Given the description of an element on the screen output the (x, y) to click on. 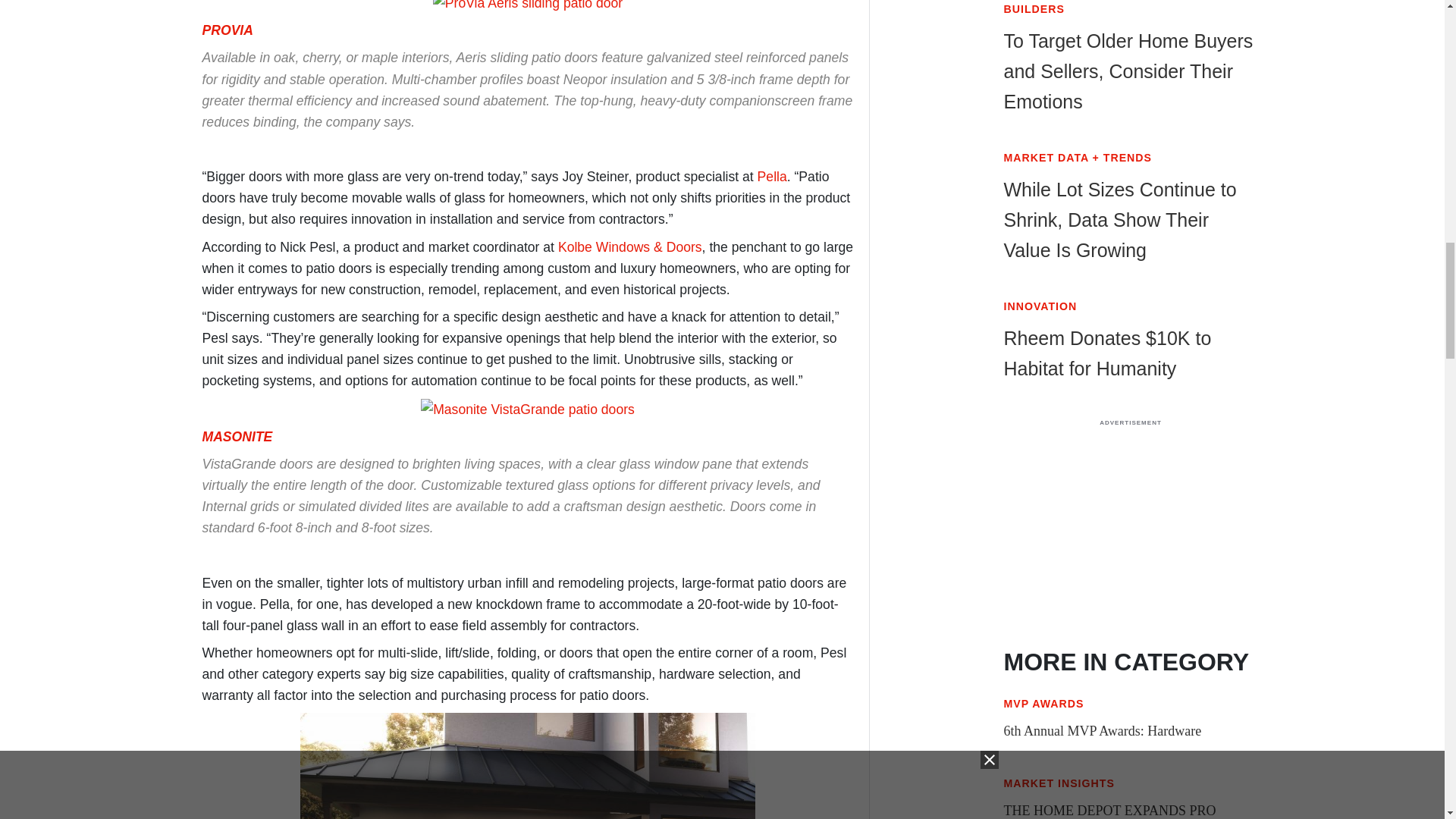
true (1130, 529)
PROVIA (226, 29)
MASONITE (237, 436)
Pella (772, 176)
